Given the description of an element on the screen output the (x, y) to click on. 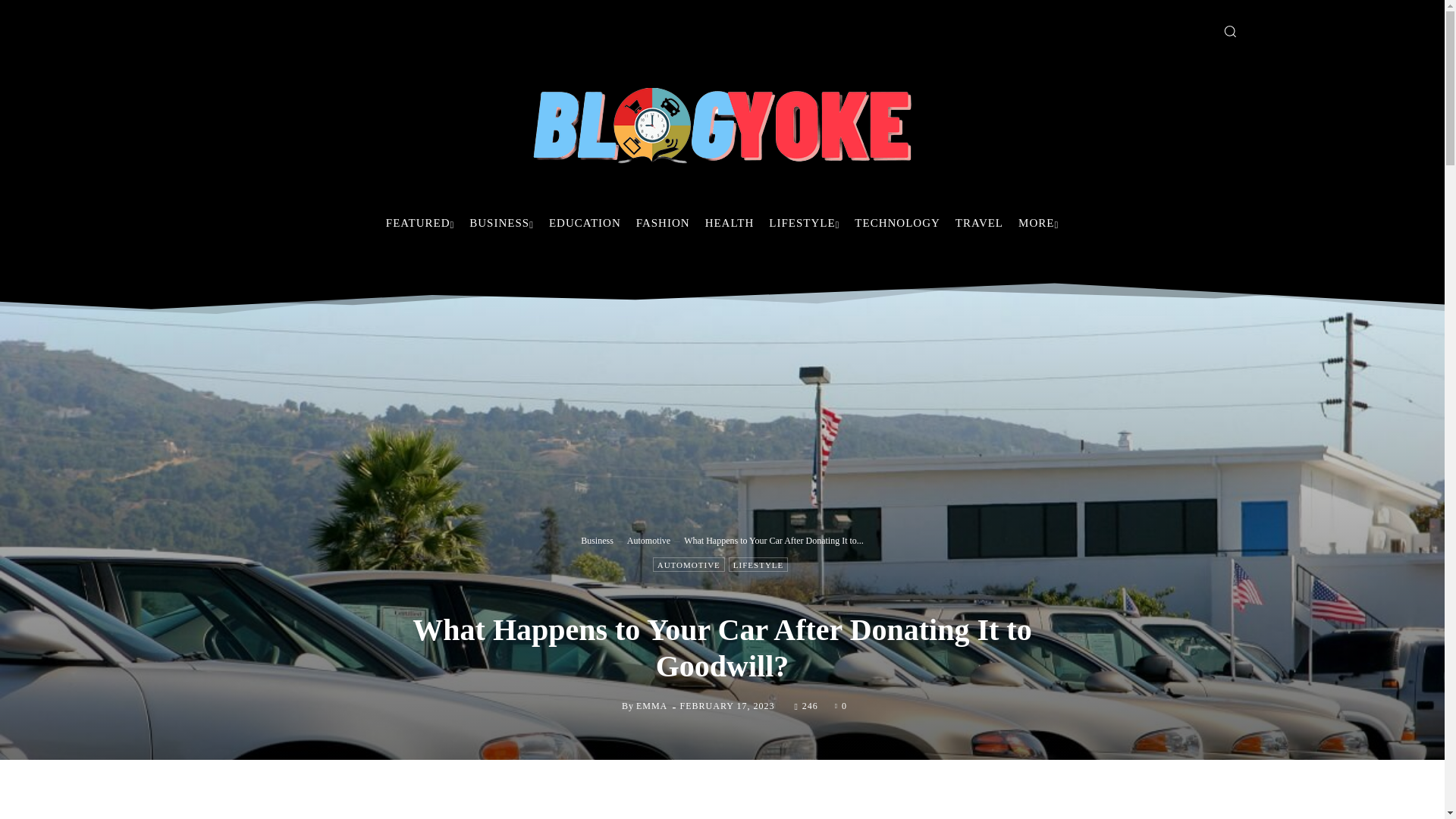
FEATURED (419, 222)
